Given the description of an element on the screen output the (x, y) to click on. 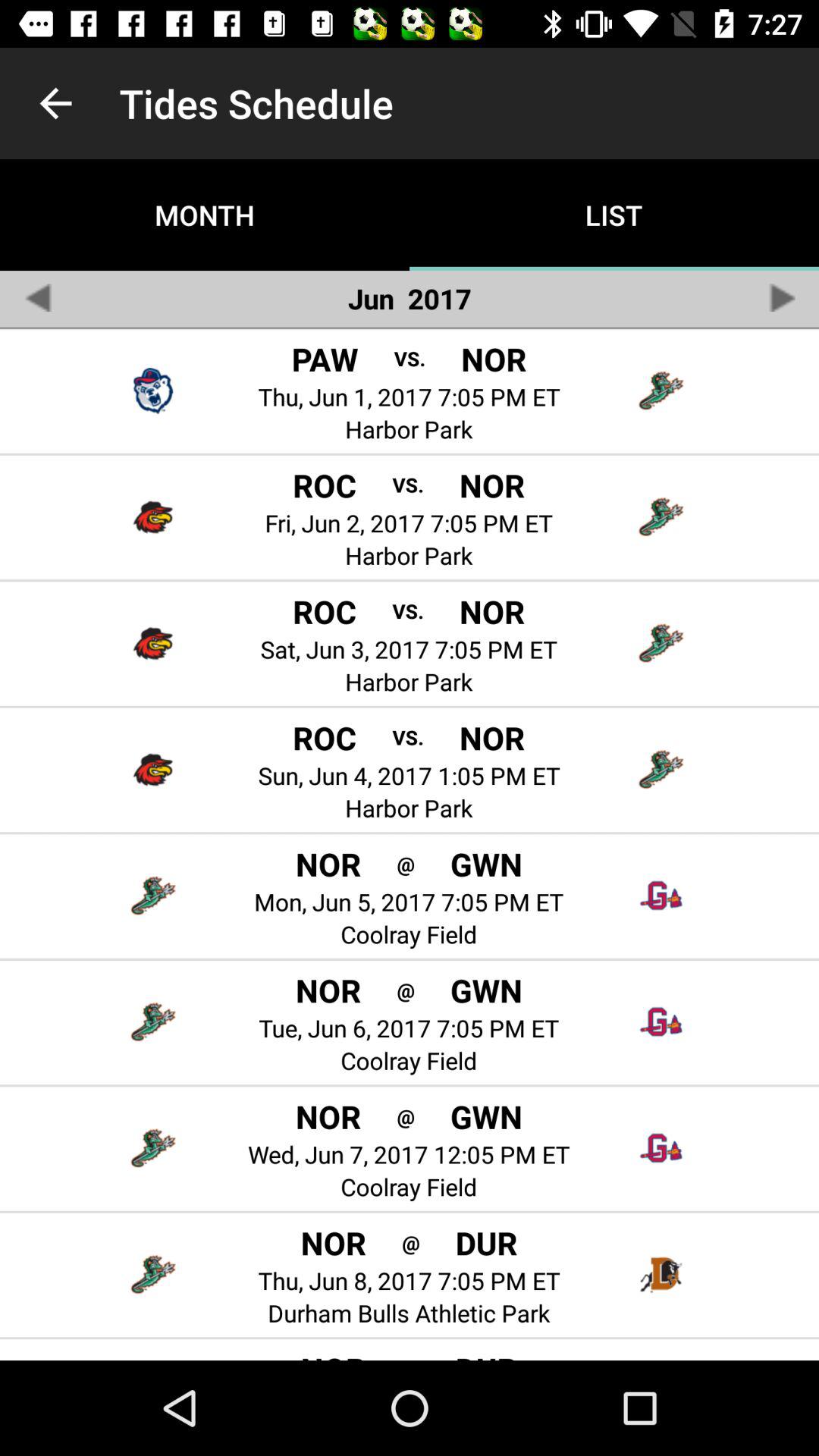
tap the app to the right of the nor item (405, 1115)
